Given the description of an element on the screen output the (x, y) to click on. 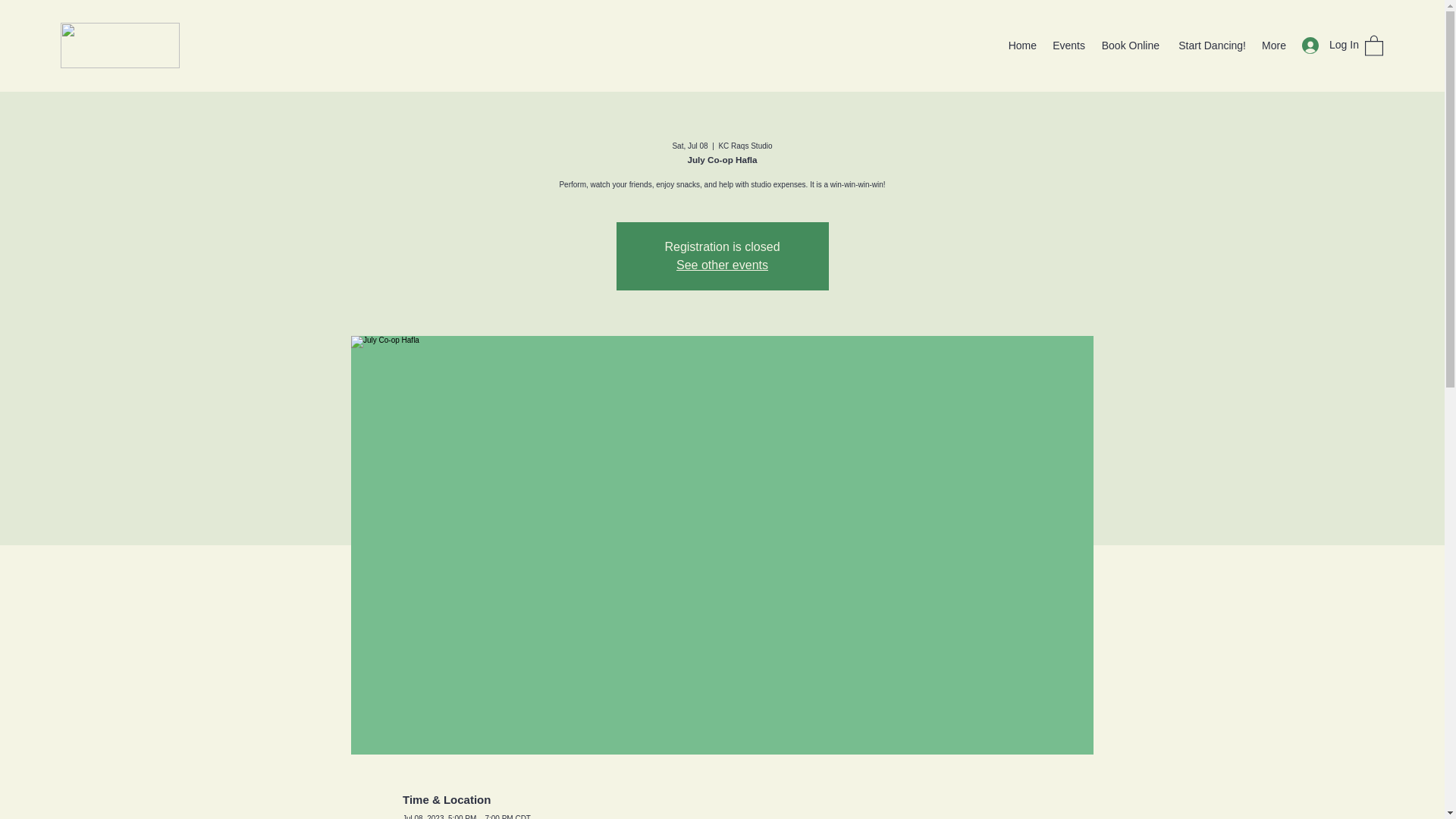
Book Online (1130, 45)
See other events (722, 264)
Events (1068, 45)
Log In (1325, 44)
Start Dancing! (1210, 45)
Home (1020, 45)
